Given the description of an element on the screen output the (x, y) to click on. 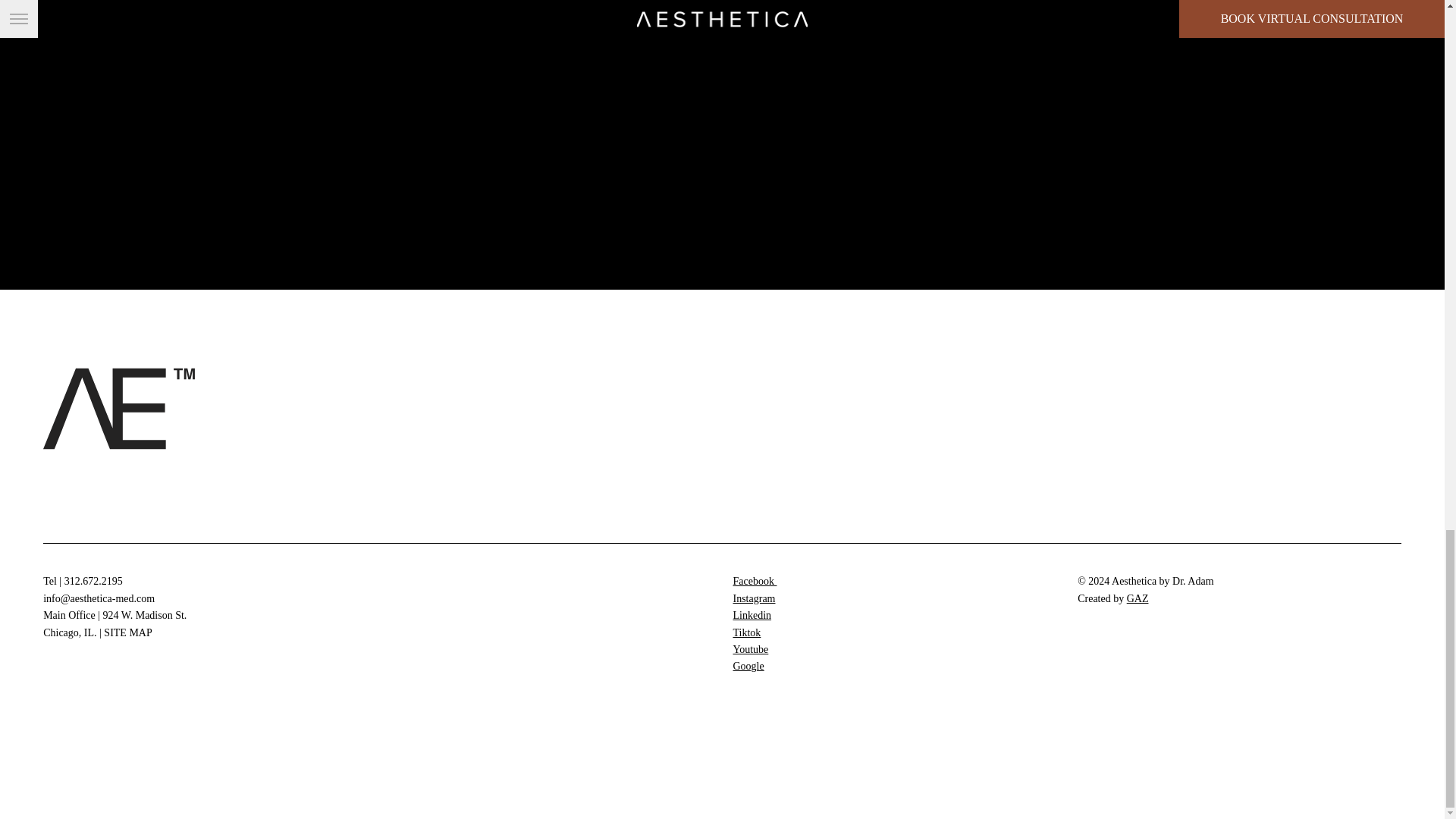
Chicago, IL. (69, 632)
312.672.2195 (93, 581)
Linkedin (751, 614)
Tiktok (746, 632)
Facebook (754, 581)
SITE MAP (127, 632)
Instagram (753, 598)
